Given the description of an element on the screen output the (x, y) to click on. 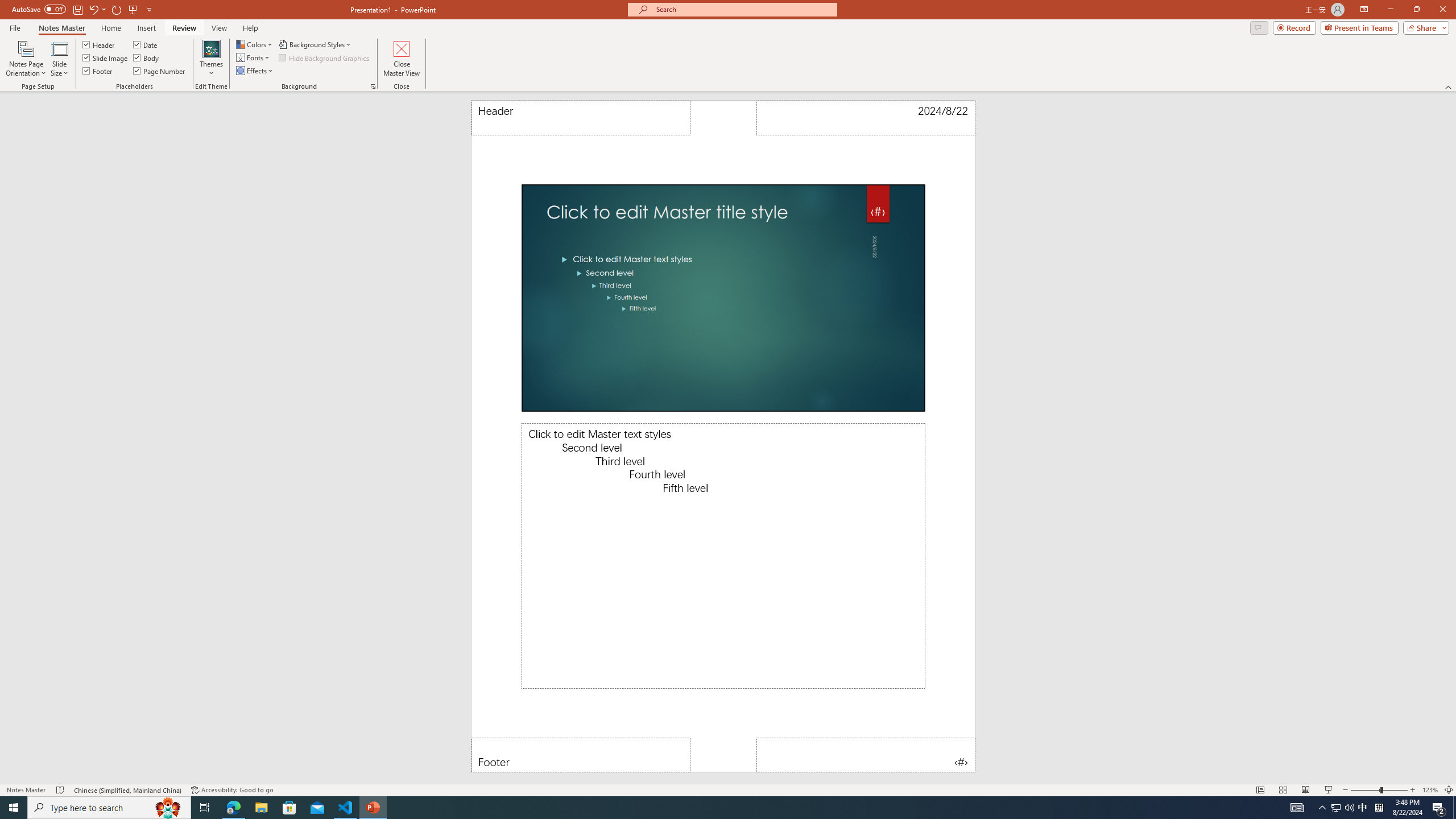
Format Background... (372, 85)
Close Master View (400, 58)
Themes (211, 58)
Effects (255, 69)
